Given the description of an element on the screen output the (x, y) to click on. 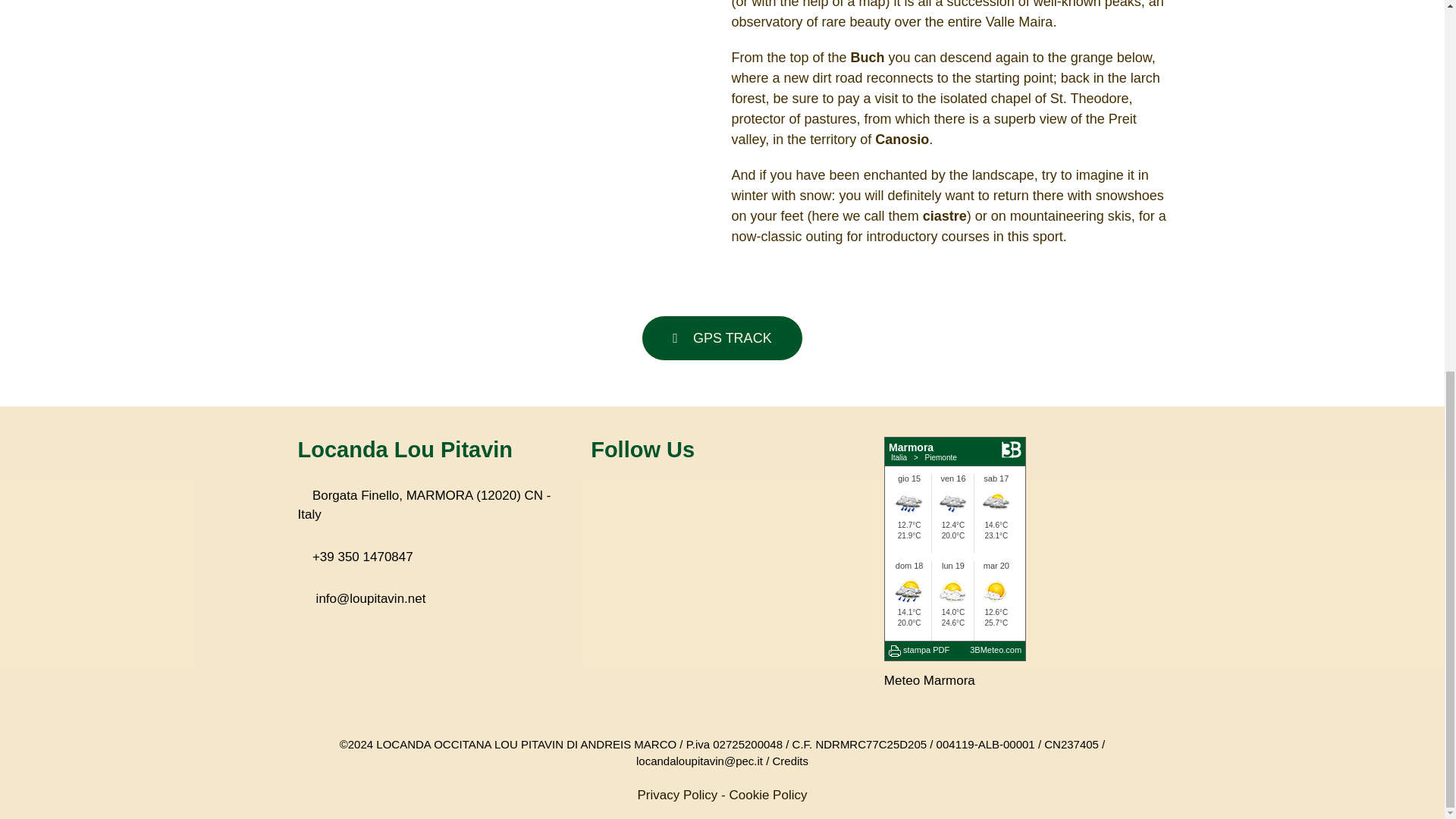
Cookie Policy (767, 794)
Privacy Policy (677, 794)
Meteo Marmora (929, 680)
Credits (789, 760)
Cookie Policy  (767, 794)
Privacy Policy  (677, 794)
GPS TRACK (722, 338)
